Given the description of an element on the screen output the (x, y) to click on. 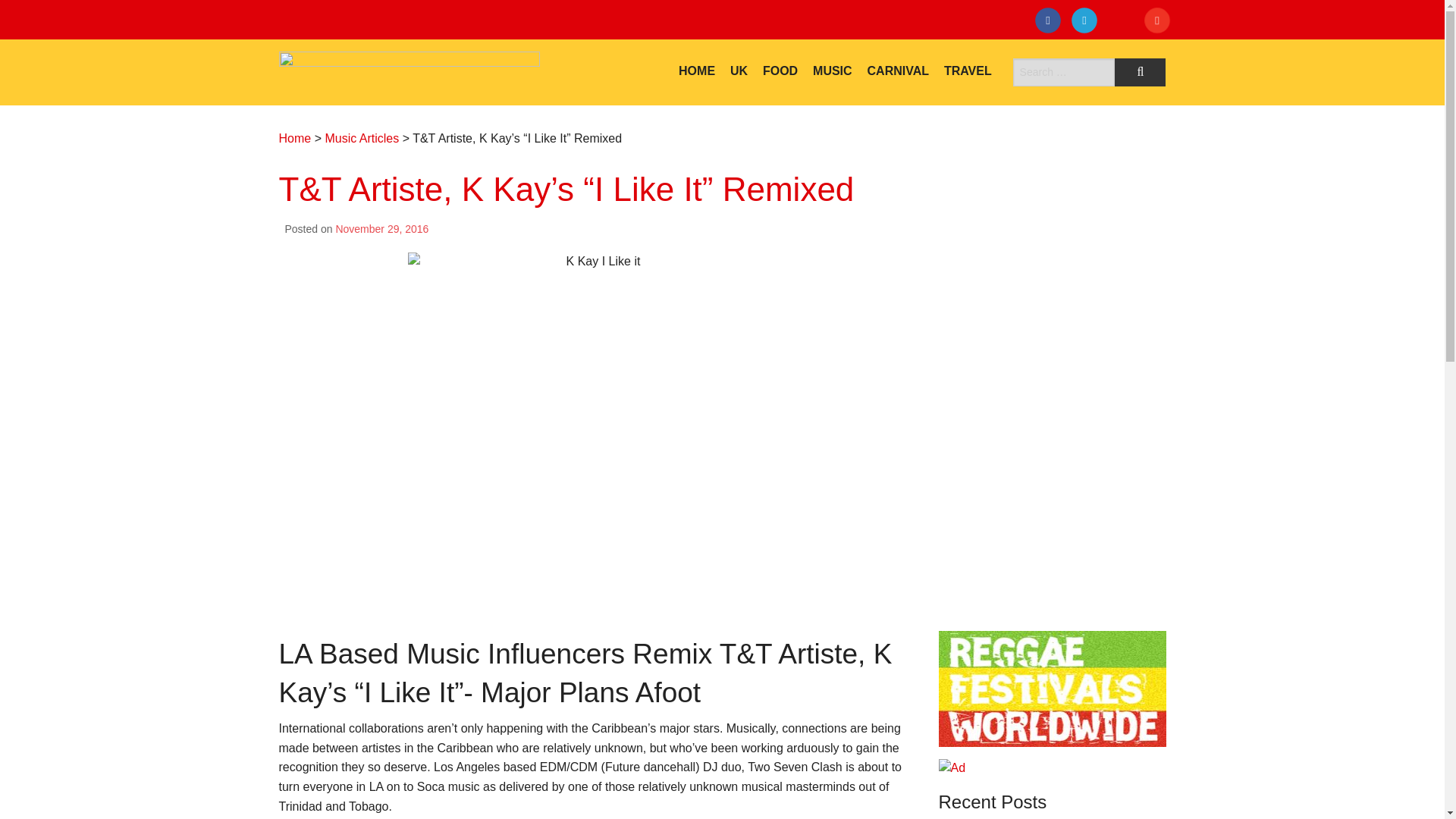
Instagram (1124, 23)
Search for: (1064, 72)
Home (295, 137)
TRAVEL (967, 70)
Facebook (1051, 23)
Search (1140, 72)
November 29, 2016 (381, 228)
Pinterest (1160, 23)
Twitter (1087, 23)
Music Articles (361, 137)
